Given the description of an element on the screen output the (x, y) to click on. 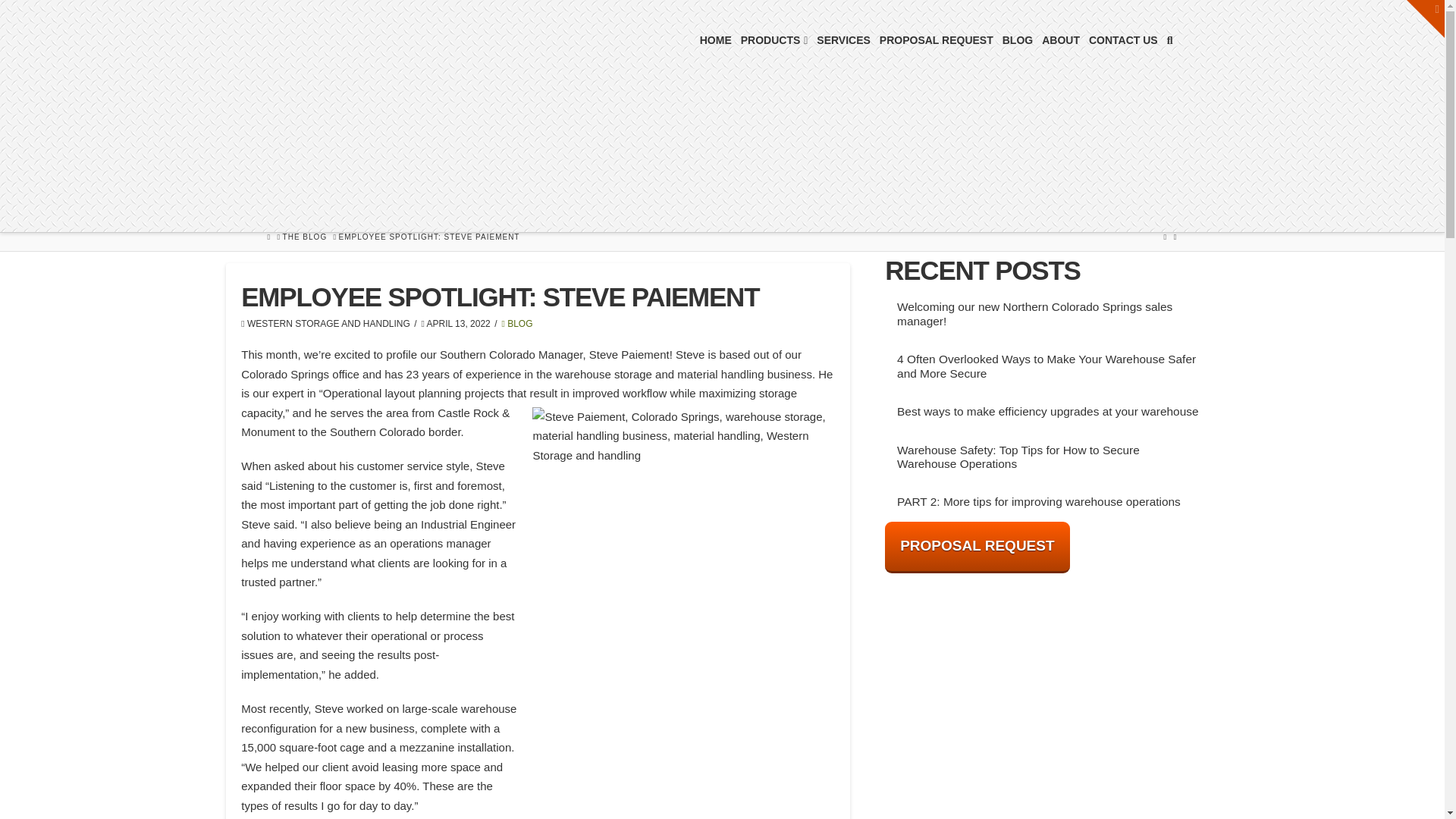
PROPOSAL REQUEST (936, 38)
PRODUCTS (774, 38)
CONTACT US (1122, 38)
You Are Here (429, 236)
